Given the description of an element on the screen output the (x, y) to click on. 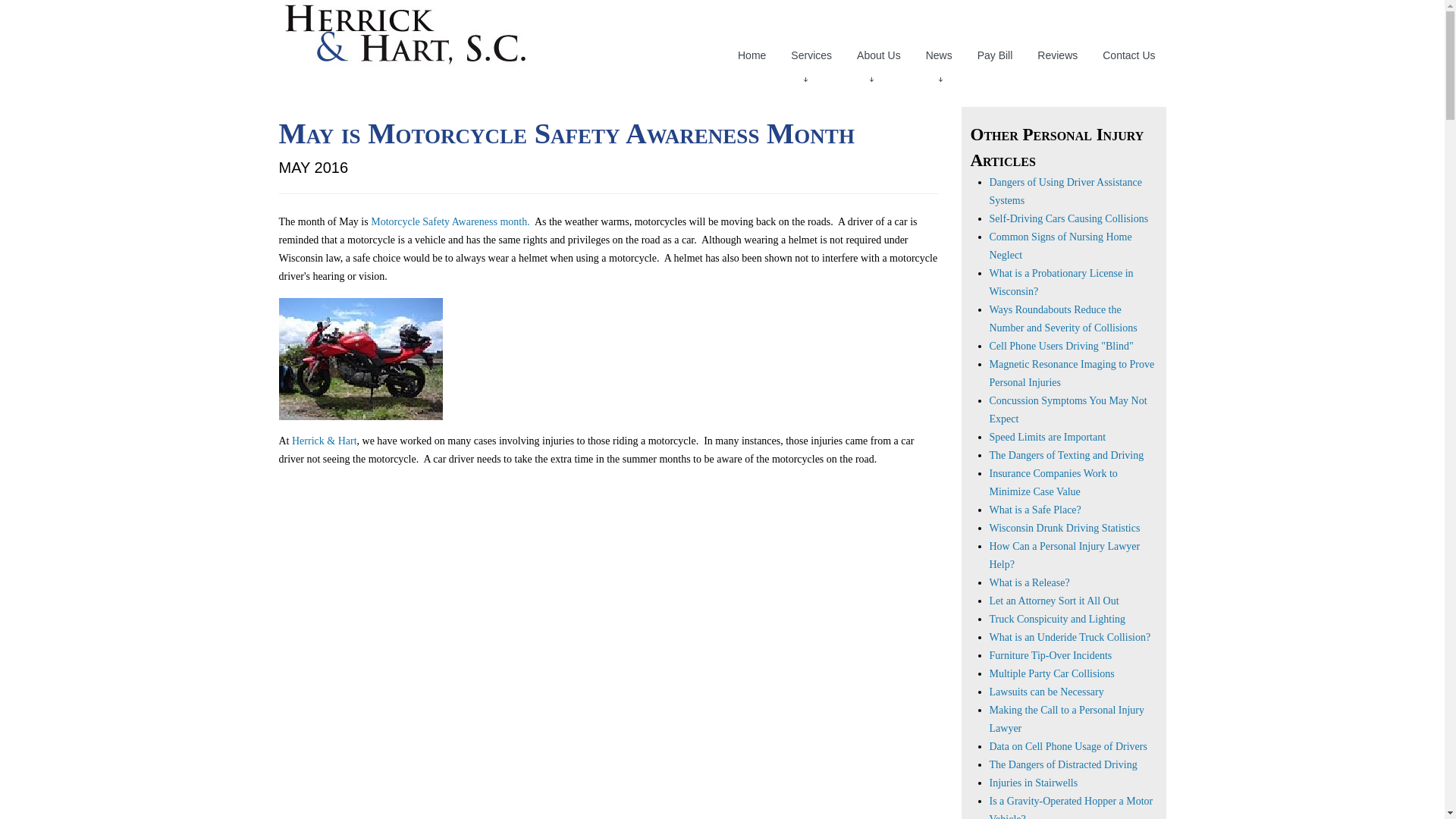
Truck Conspicuity and Lighting (1056, 618)
What is a Safe Place? (1034, 509)
Furniture Tip-Over Incidents (1050, 655)
Pay Bill (994, 55)
Data on Cell Phone Usage of Drivers (1067, 746)
Contact Us (1129, 55)
Let an Attorney Sort it All Out (1053, 600)
Dangers of Using Driver Assistance Systems (1064, 191)
Speed Limits are Important (1046, 437)
What is a Release? (1028, 582)
What is a Probationary License in Wisconsin? (1060, 282)
Magnetic Resonance Imaging to Prove Personal Injuries (1071, 373)
Services (811, 55)
How Can a Personal Injury Lawyer Help? (1064, 555)
The Dangers of Texting and Driving (1065, 455)
